Given the description of an element on the screen output the (x, y) to click on. 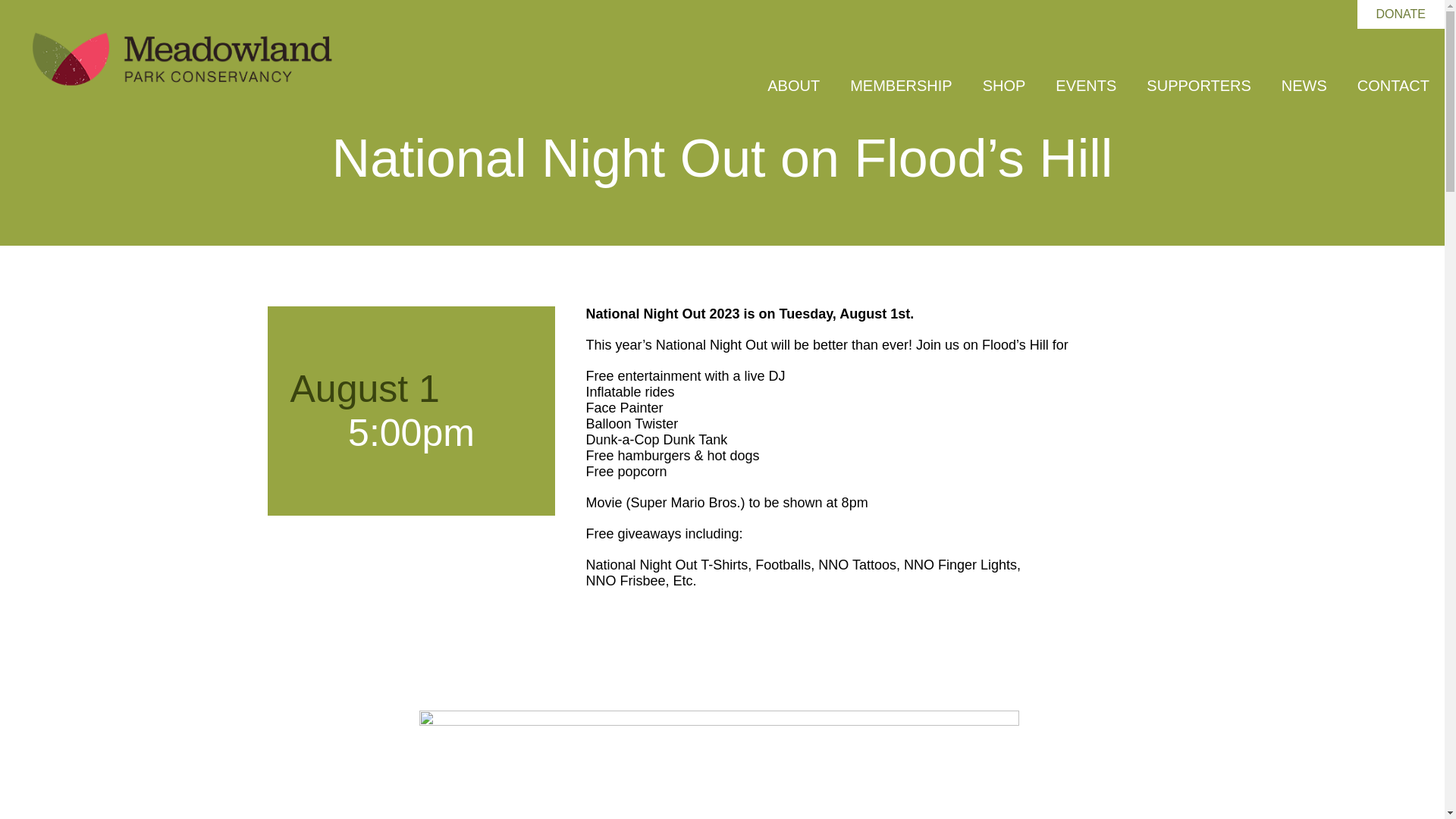
EVENTS (1086, 86)
NEWS (1304, 86)
MEMBERSHIP (900, 86)
ABOUT (793, 86)
SUPPORTERS (1198, 86)
SHOP (1004, 86)
DONATE (1401, 14)
